Given the description of an element on the screen output the (x, y) to click on. 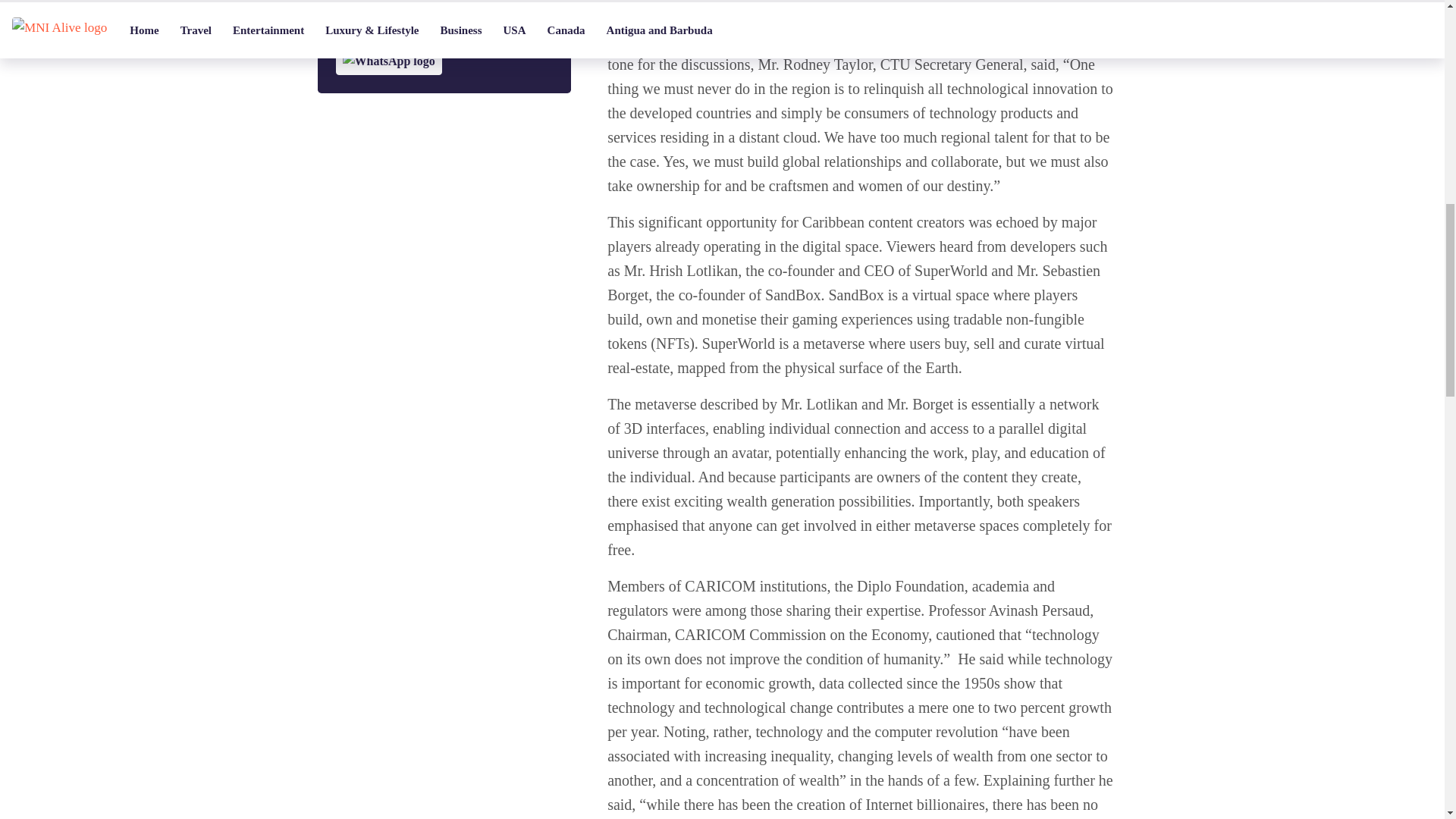
Share on Facebook (384, 9)
Share on WhatsApp (387, 60)
Share on Twitter (410, 32)
